Given the description of an element on the screen output the (x, y) to click on. 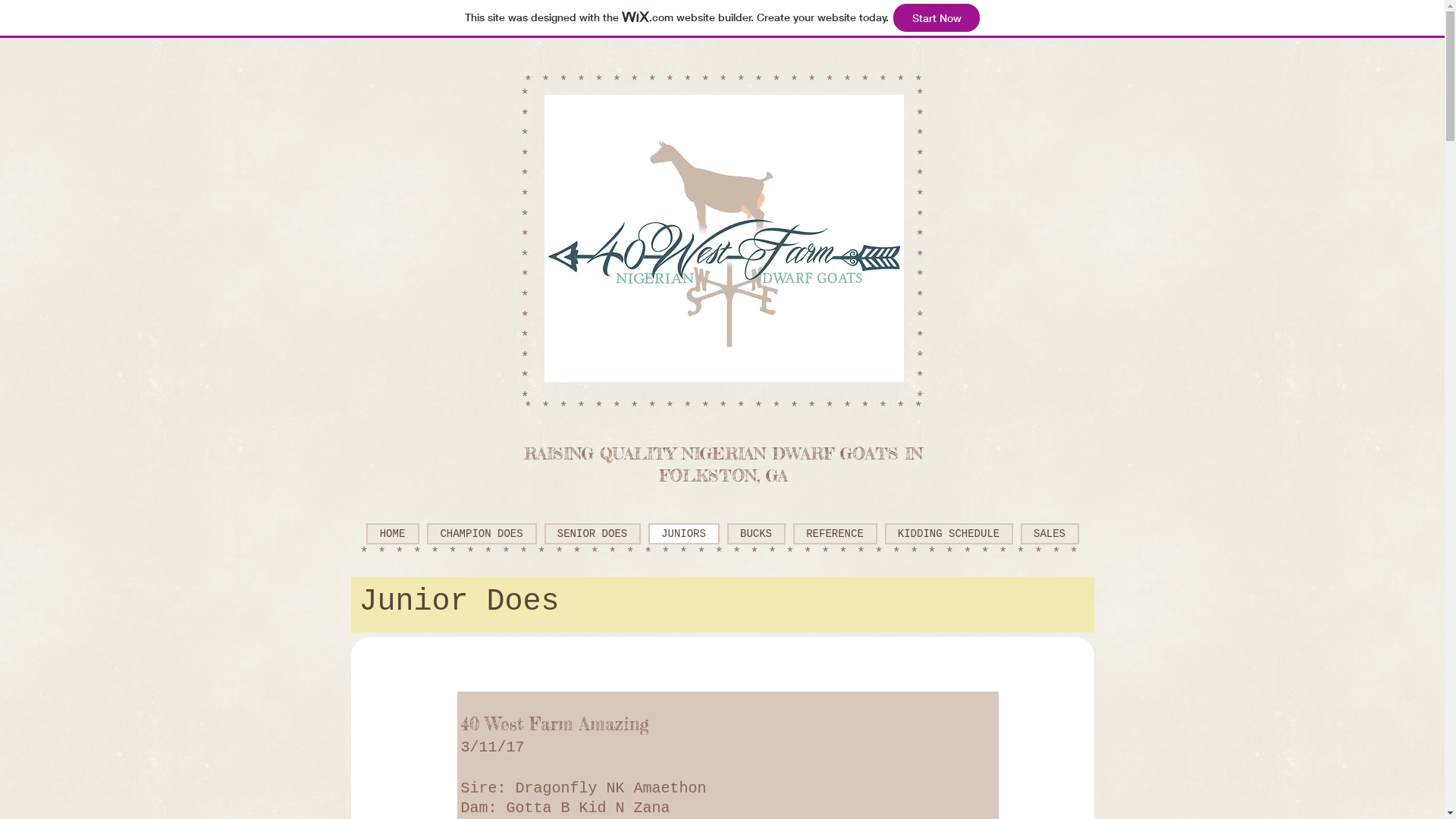
SENIOR DOES Element type: text (592, 533)
CHAMPION DOES Element type: text (481, 533)
SALES Element type: text (1049, 533)
JUNIORS Element type: text (682, 533)
KIDDING SCHEDULE Element type: text (948, 533)
BUCKS Element type: text (755, 533)
HOME Element type: text (391, 533)
10751707_818969048125697_72742004_n.jpg Element type: hover (723, 238)
REFERENCE Element type: text (835, 533)
